Given the description of an element on the screen output the (x, y) to click on. 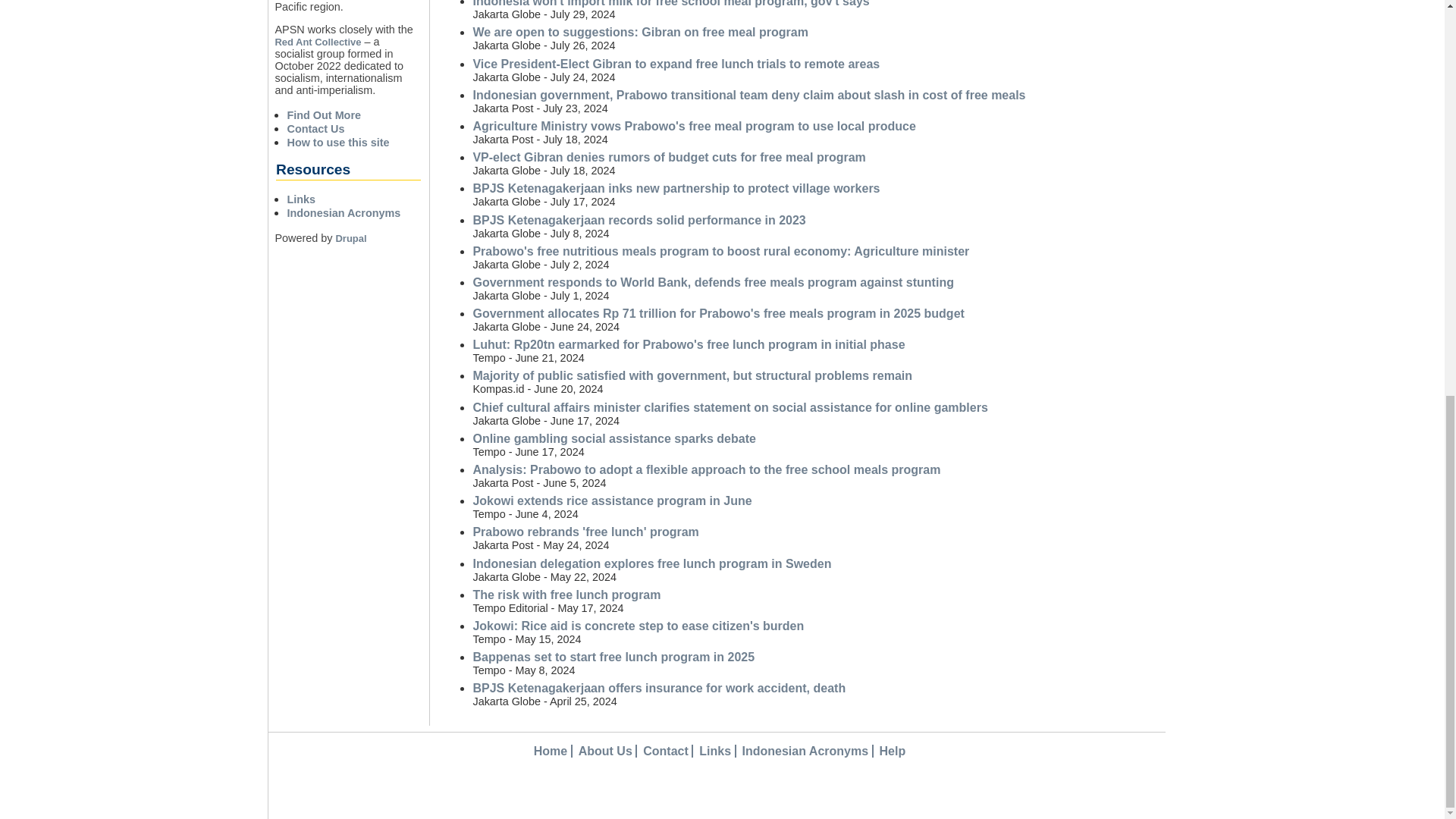
Indonesian delegation explores free lunch program in Sweden (651, 563)
BPJS Ketenagakerjaan records solid performance in 2023 (638, 219)
The risk with free lunch program (566, 594)
